Given the description of an element on the screen output the (x, y) to click on. 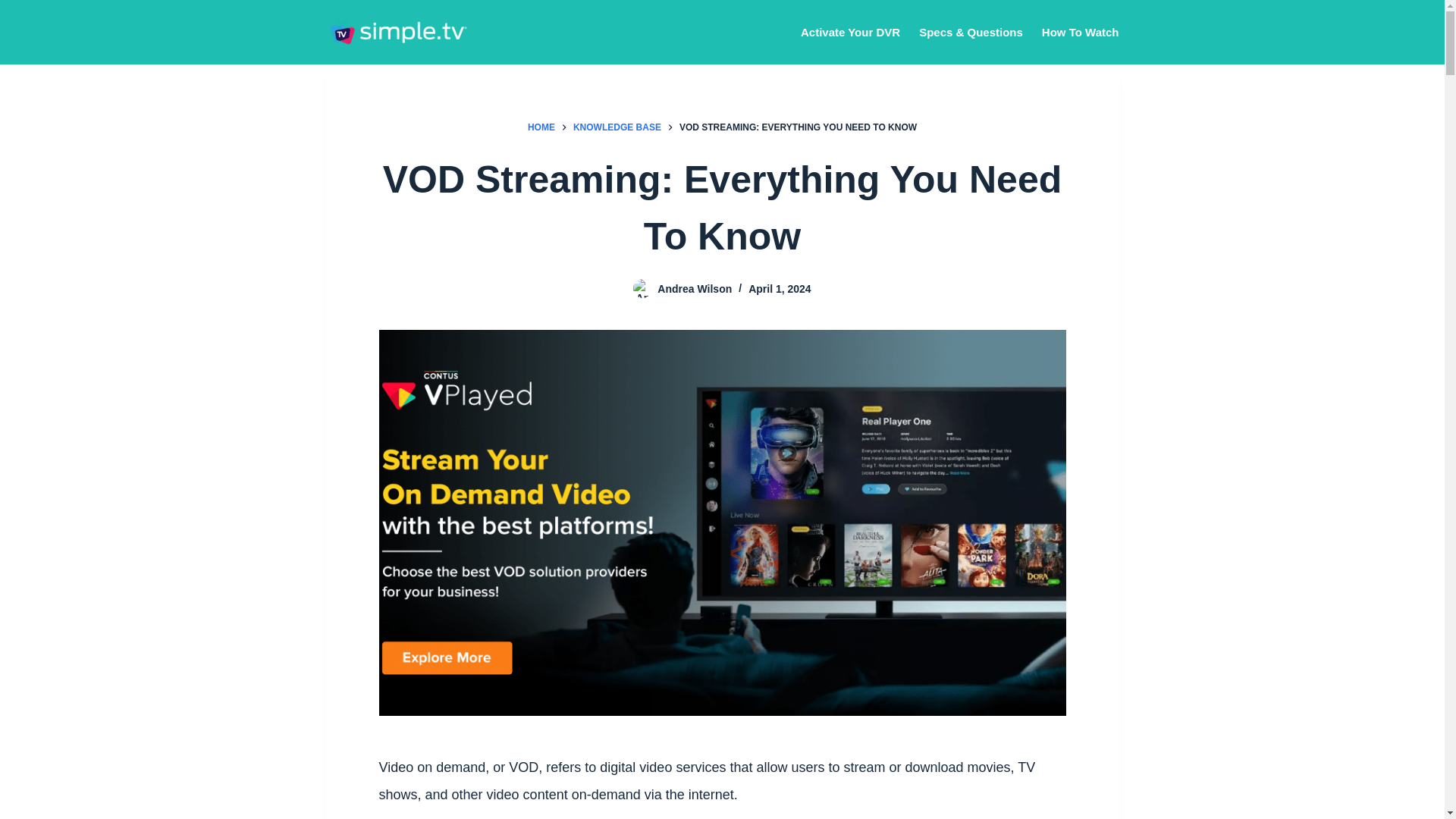
Activate Your DVR (855, 32)
How To Watch (1075, 32)
KNOWLEDGE BASE (617, 126)
HOME (540, 126)
Andrea Wilson (695, 288)
VOD Streaming: Everything You Need To Know (721, 208)
Posts by Andrea Wilson (695, 288)
Skip to content (15, 7)
